Given the description of an element on the screen output the (x, y) to click on. 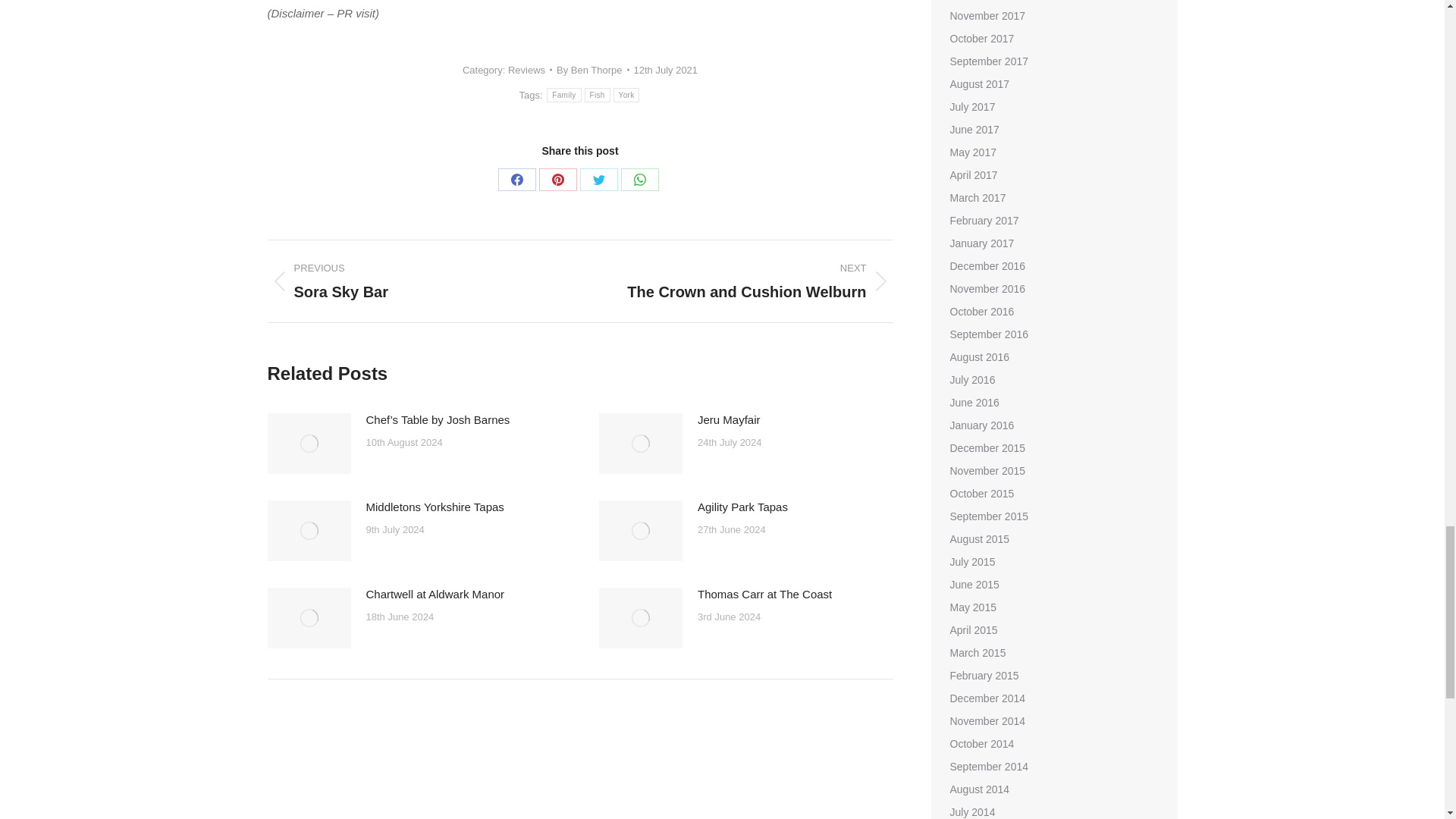
4:23 pm (665, 69)
Facebook (516, 179)
Family (563, 94)
Pinterest (557, 179)
Twitter (598, 179)
WhatsApp (640, 179)
By Ben Thorpe (592, 69)
12th July 2021 (665, 69)
View all posts by Ben Thorpe (592, 69)
Reviews (526, 70)
